Given the description of an element on the screen output the (x, y) to click on. 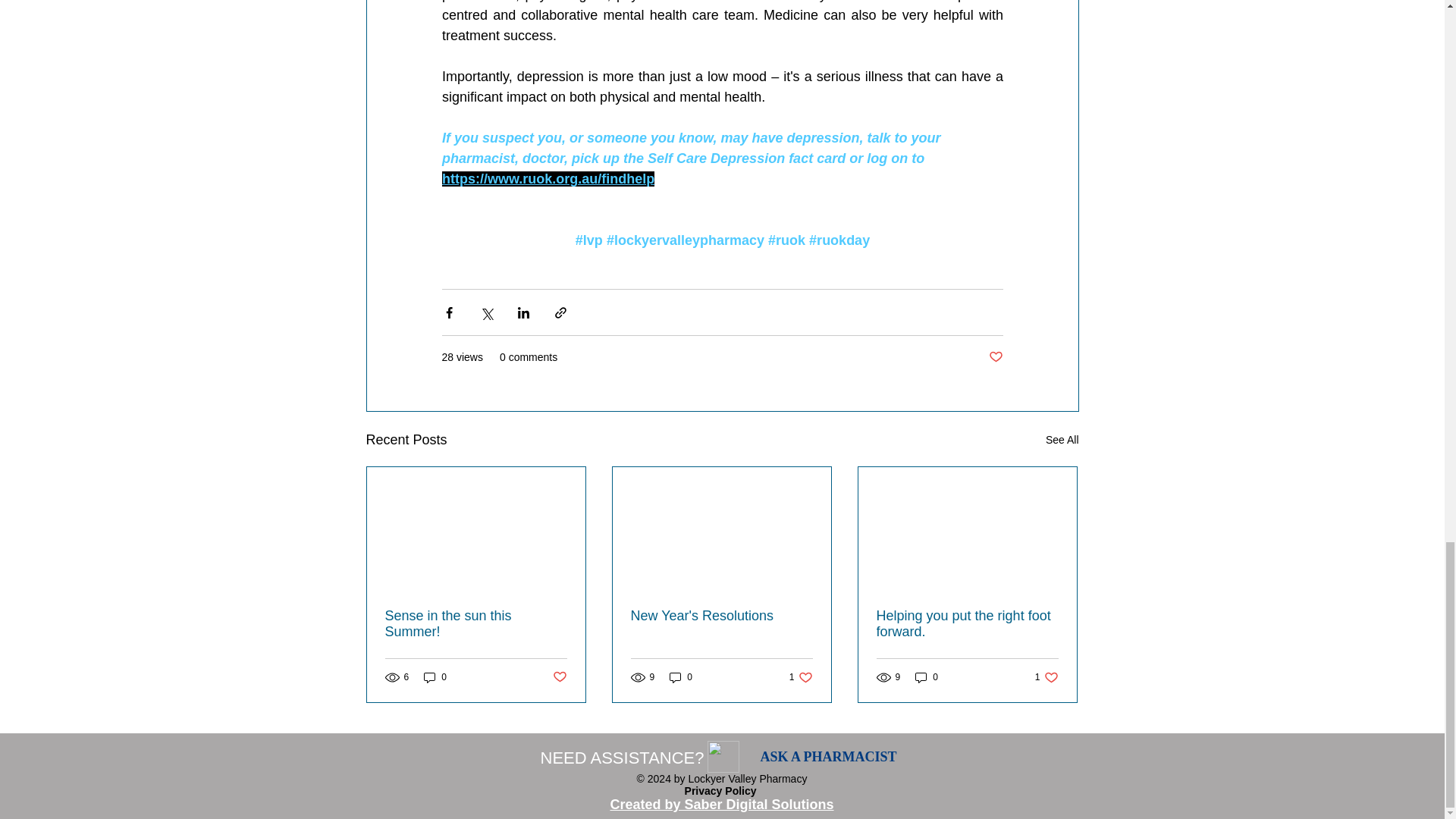
0 (435, 677)
Post not marked as liked (995, 357)
See All (1061, 440)
Sense in the sun this Summer! (476, 623)
Post not marked as liked (558, 677)
